Given the description of an element on the screen output the (x, y) to click on. 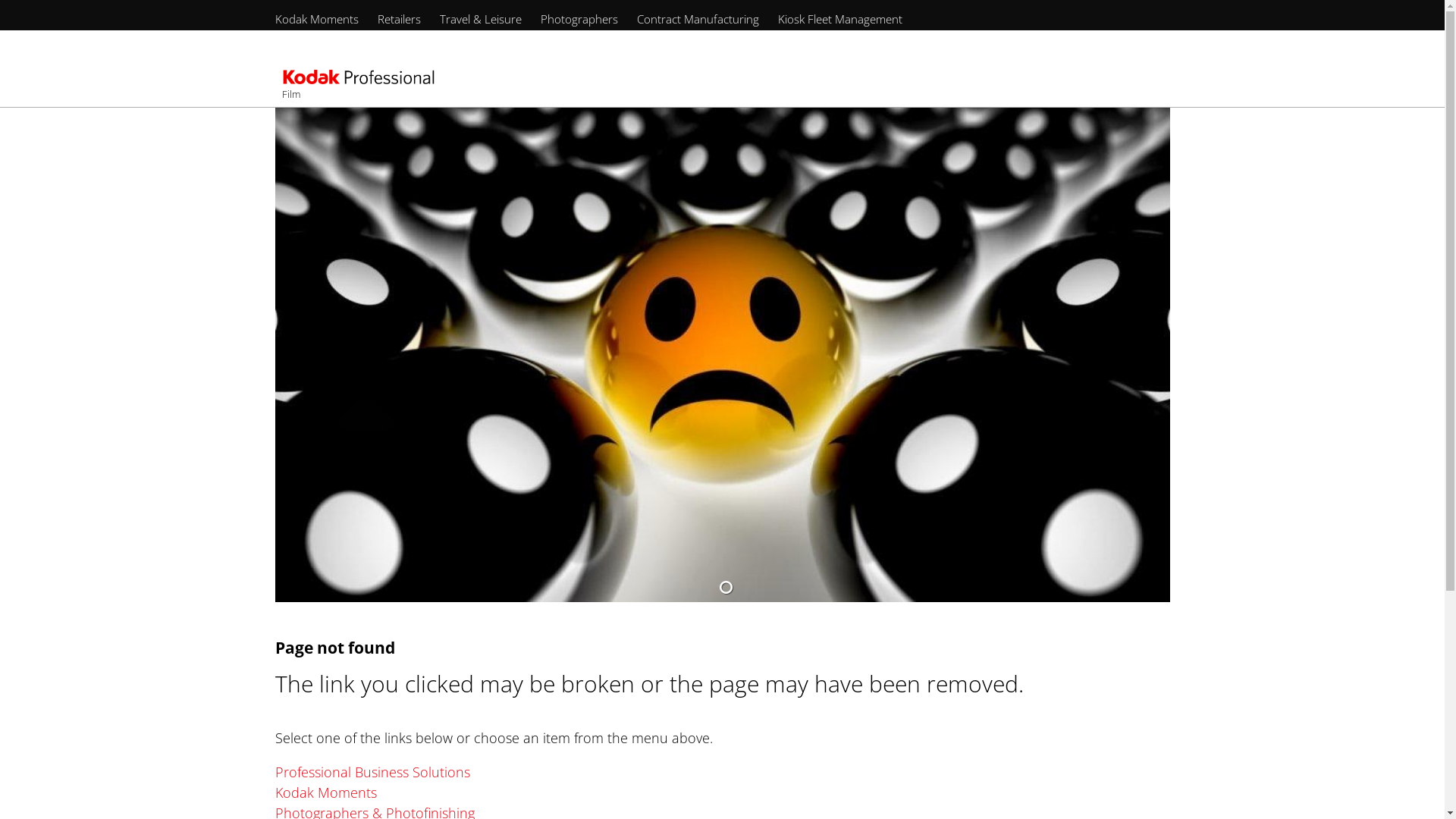
Professional Business Solutions Element type: text (371, 771)
Kodak Moments Element type: text (315, 18)
Travel & Leisure Element type: text (480, 18)
Skip to main content Element type: text (0, 98)
Contract Manufacturing Element type: text (698, 18)
Home Element type: hover (357, 78)
Kodak Moments Element type: text (325, 792)
Kiosk Fleet Management Element type: text (840, 18)
Film Element type: text (291, 93)
Photographers Element type: text (578, 18)
Retailers Element type: text (398, 18)
